Given the description of an element on the screen output the (x, y) to click on. 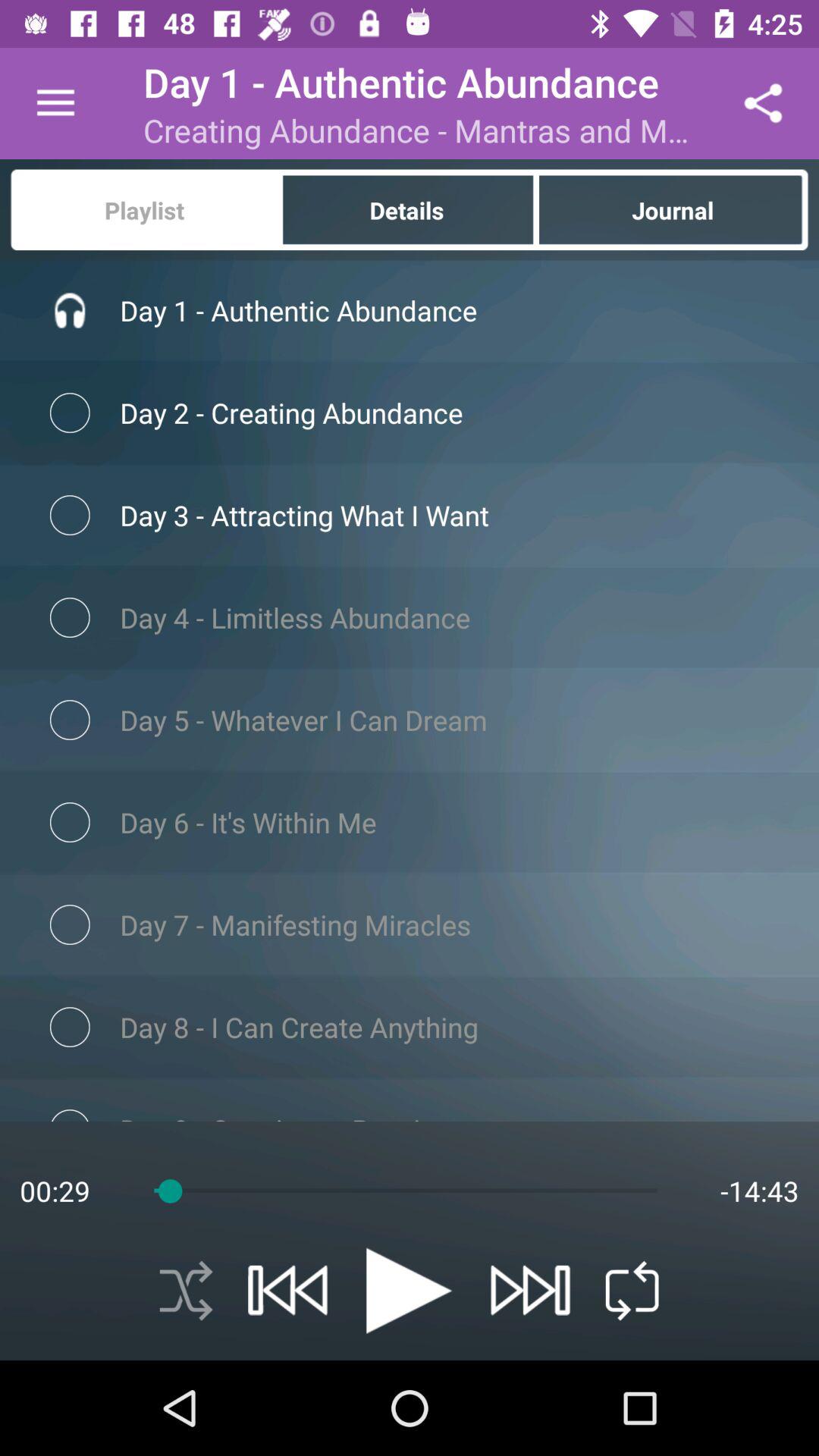
choose the item to the left of the journal item (407, 209)
